Given the description of an element on the screen output the (x, y) to click on. 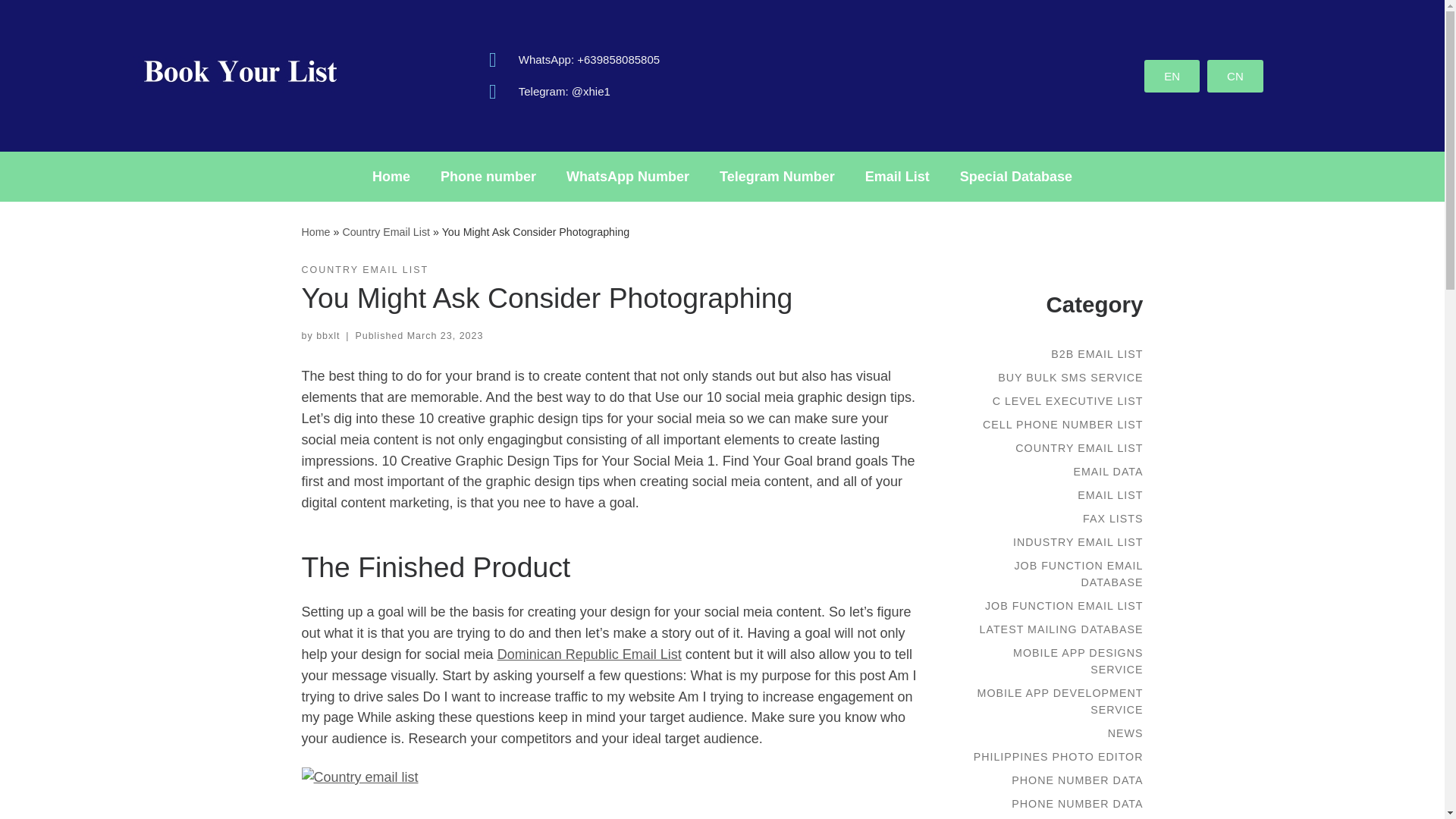
Telegram Number (777, 176)
9:44 am (445, 335)
Home (390, 176)
CN (1235, 74)
Phone number (488, 176)
COUNTRY EMAIL LIST (365, 269)
bbxlt (327, 335)
Dominican Republic Email List (589, 654)
March 23, 2023 (445, 335)
WhatsApp Number (627, 176)
